Given the description of an element on the screen output the (x, y) to click on. 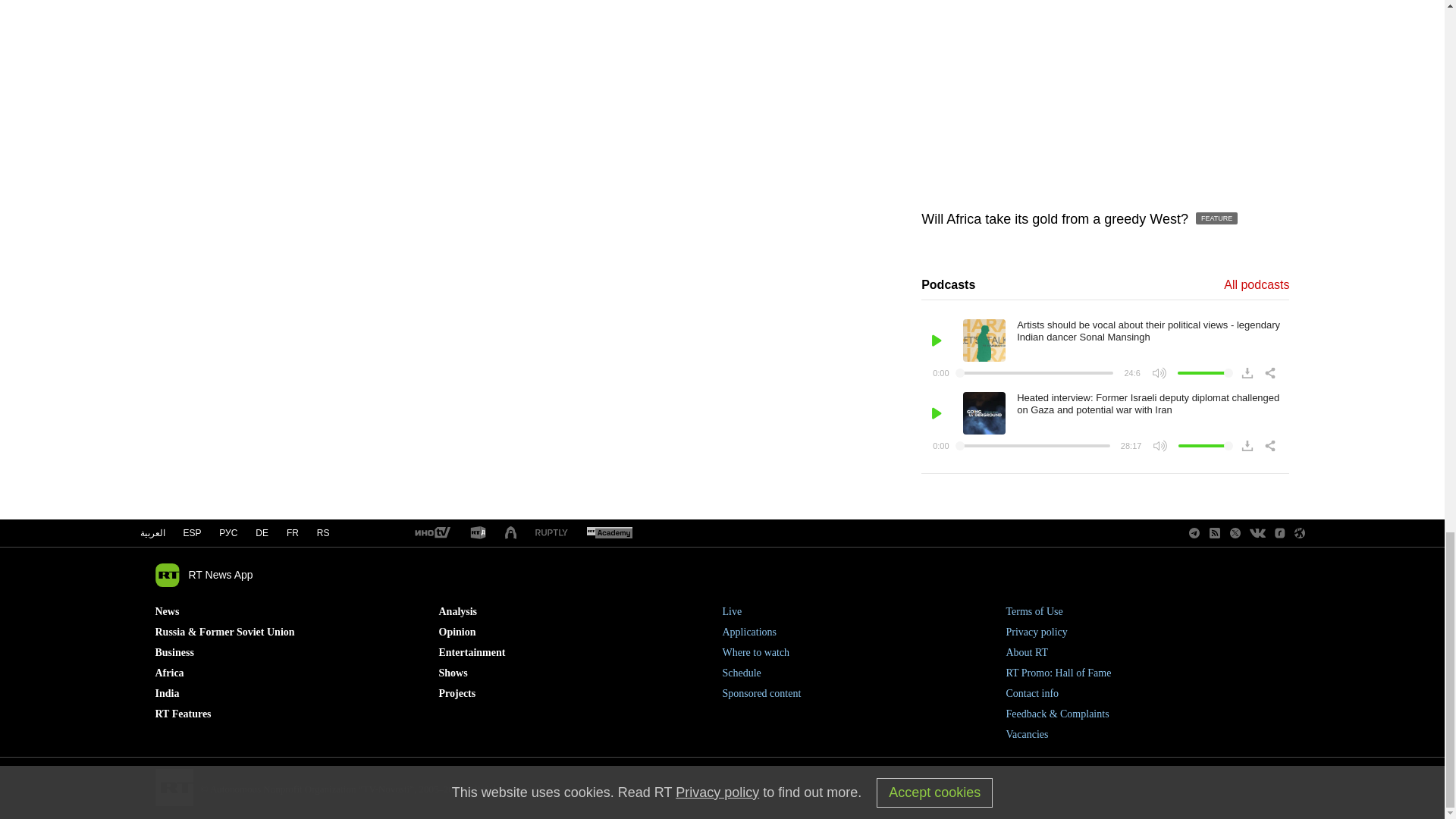
RT  (431, 533)
RT  (478, 533)
RT  (608, 533)
RT  (551, 533)
